Given the description of an element on the screen output the (x, y) to click on. 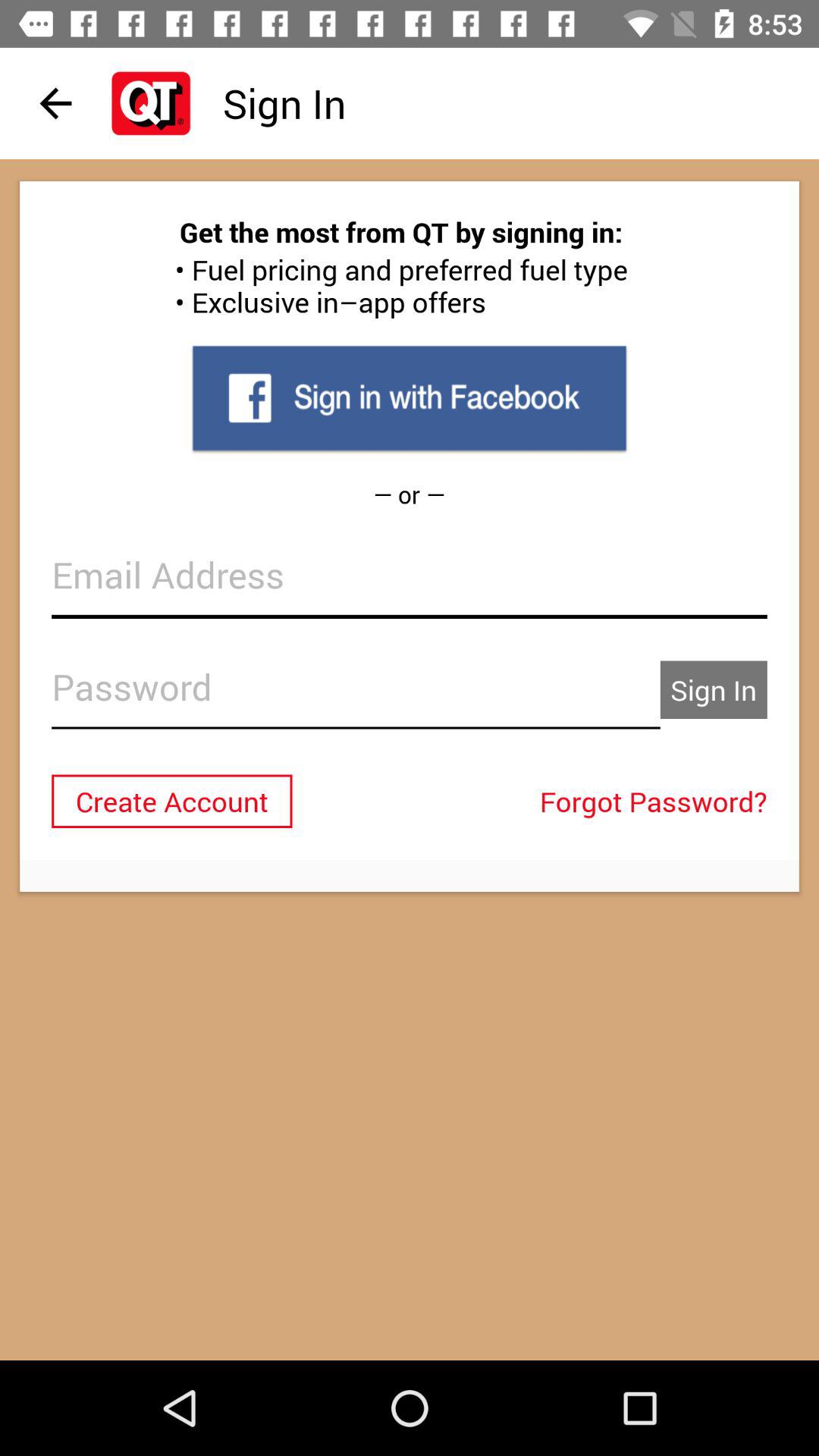
scroll until the forgot password? (657, 801)
